Given the description of an element on the screen output the (x, y) to click on. 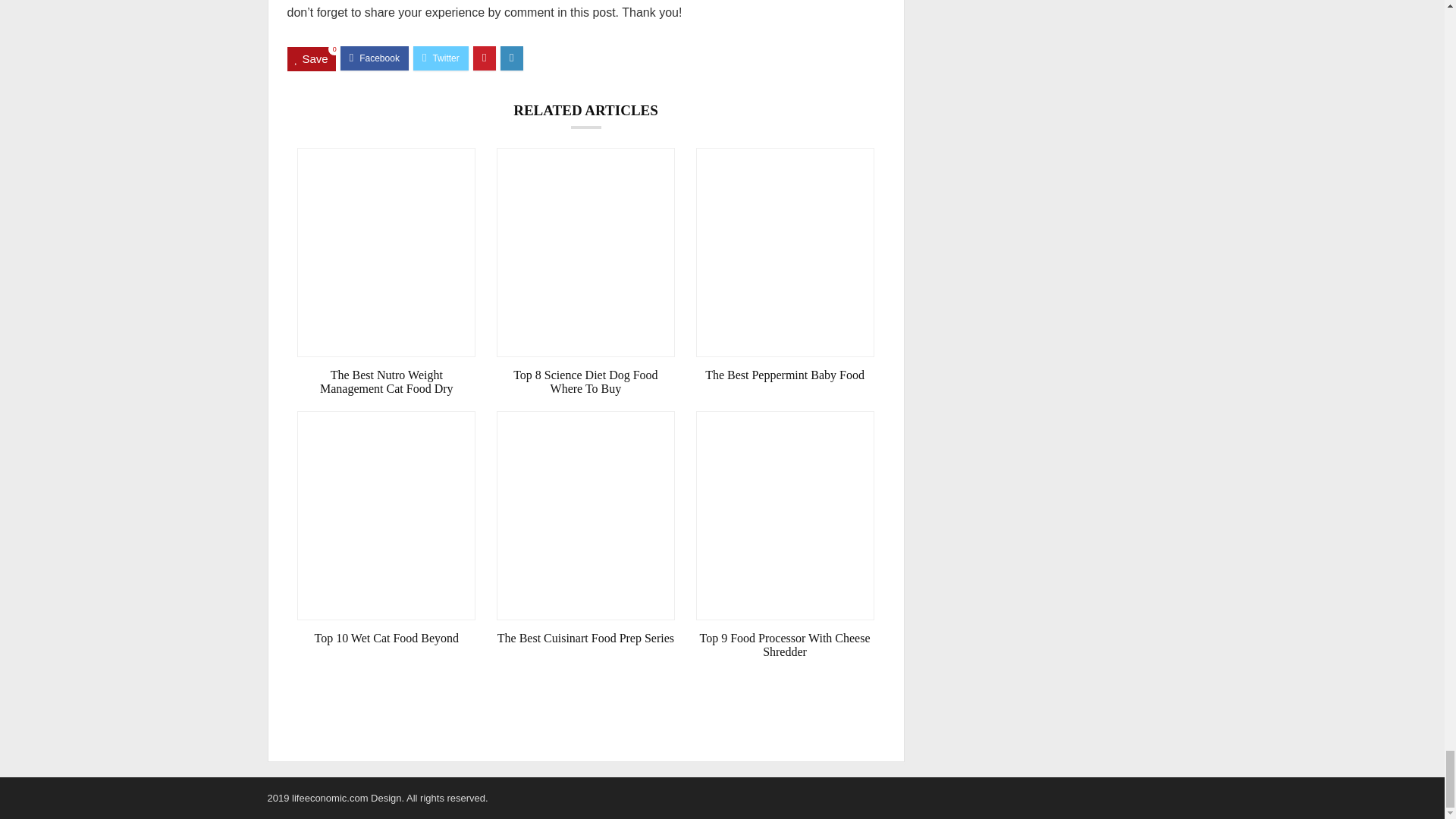
Top 10 Wet Cat Food Beyond (386, 638)
The Best Cuisinart Food Prep Series (585, 638)
The Best Peppermint Baby Food (785, 375)
The Best Nutro Weight Management Cat Food Dry (386, 381)
Top 9 Food Processor With Cheese Shredder (785, 645)
Top 8 Science Diet Dog Food Where To Buy (585, 381)
